Given the description of an element on the screen output the (x, y) to click on. 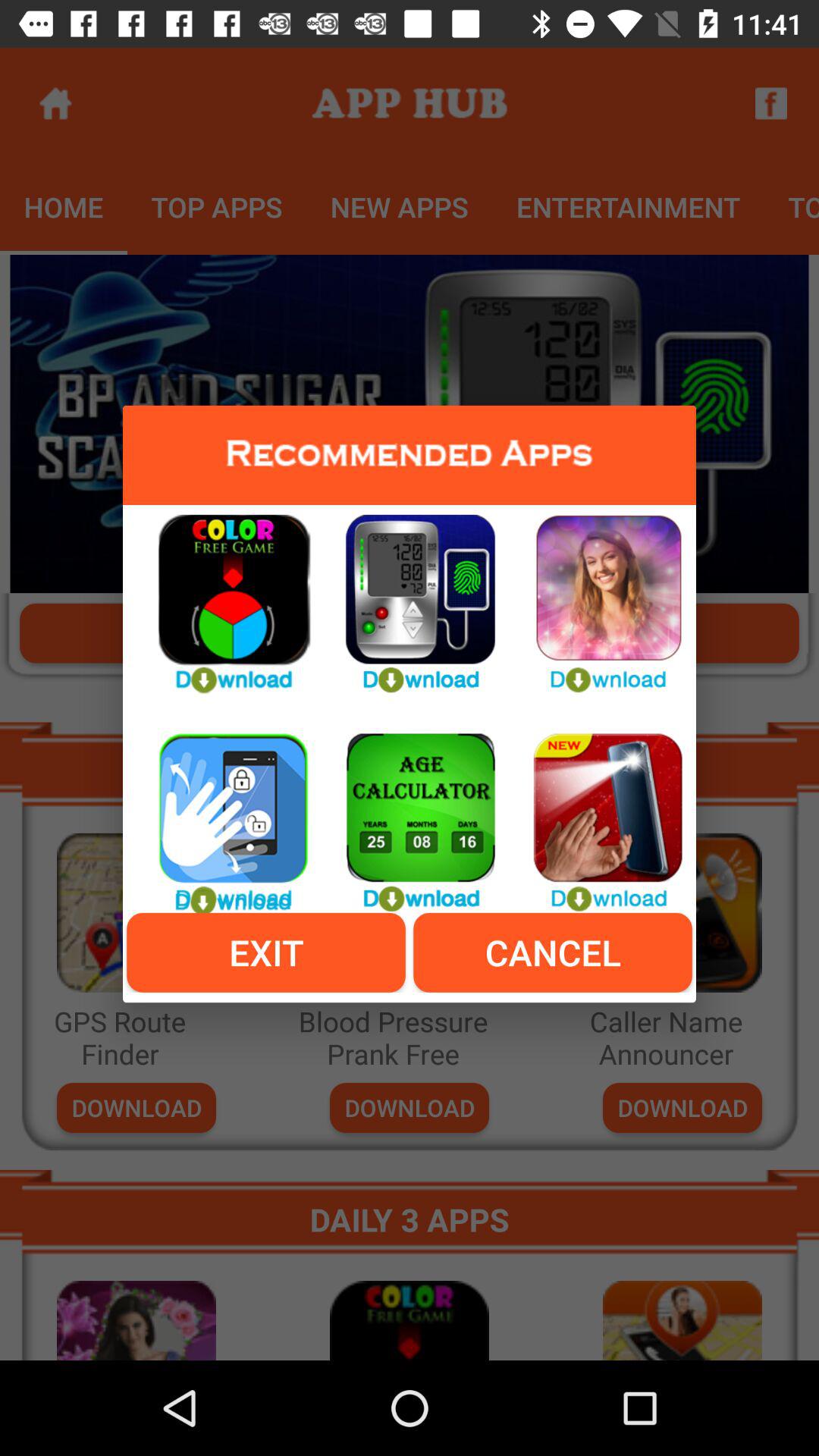
click the app (222, 594)
